Given the description of an element on the screen output the (x, y) to click on. 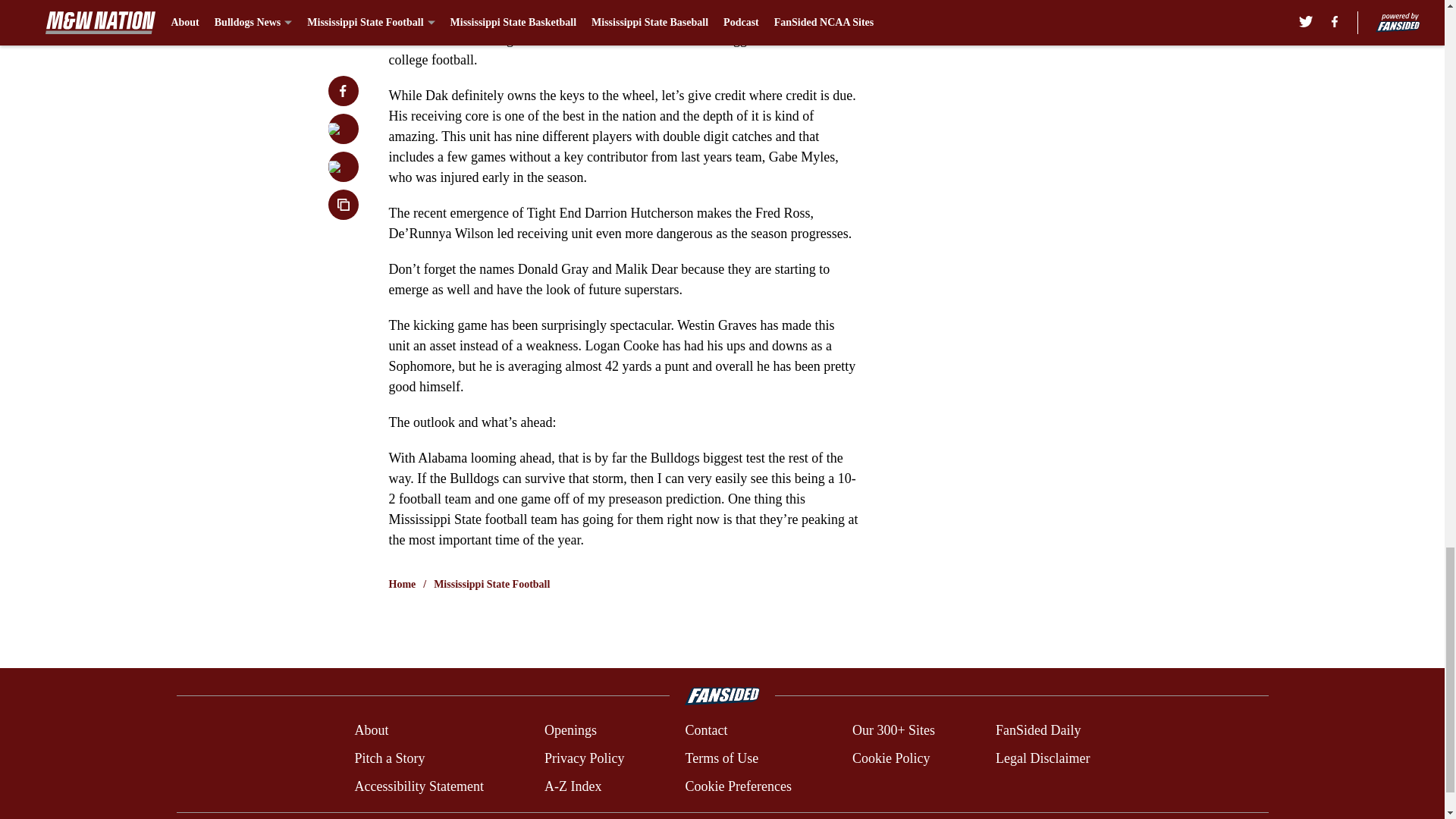
Cookie Policy (890, 758)
About (370, 730)
Openings (570, 730)
Legal Disclaimer (1042, 758)
Home (401, 584)
Terms of Use (721, 758)
Pitch a Story (389, 758)
Privacy Policy (584, 758)
FanSided Daily (1038, 730)
Mississippi State Football (491, 584)
